Given the description of an element on the screen output the (x, y) to click on. 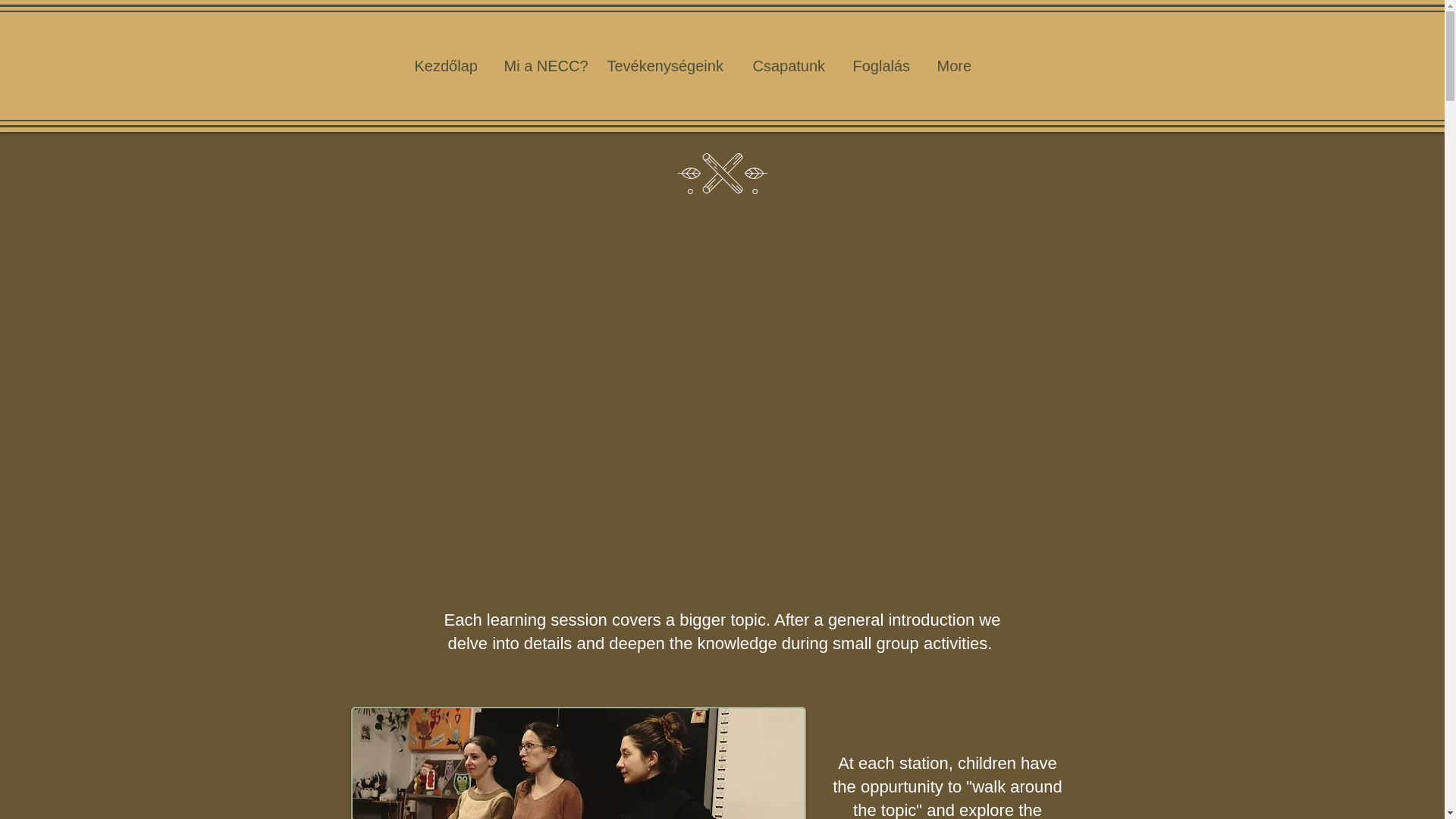
Csapatunk (789, 65)
Mi a NECC? (543, 65)
